Given the description of an element on the screen output the (x, y) to click on. 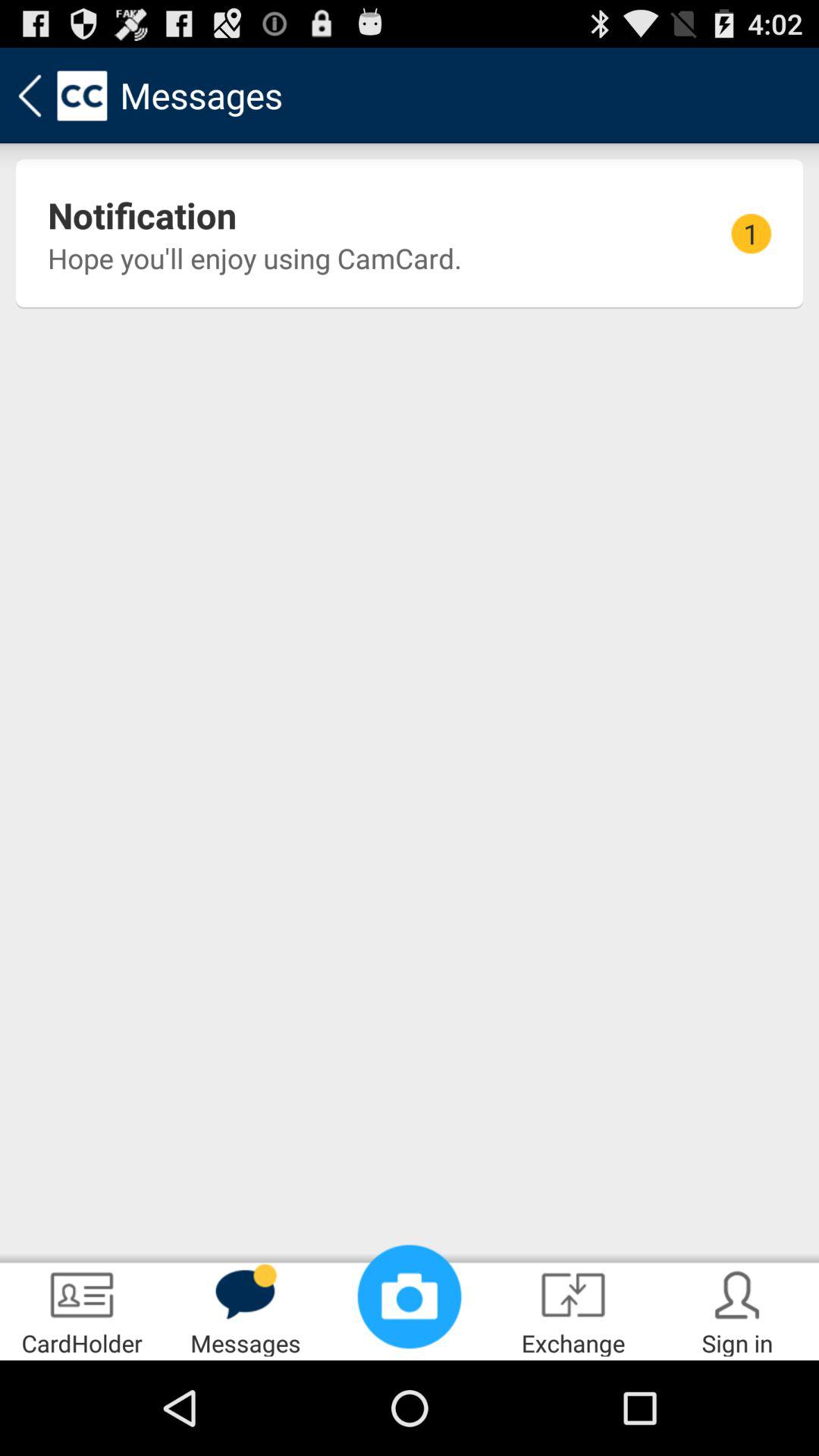
flip until the notification item (141, 215)
